Given the description of an element on the screen output the (x, y) to click on. 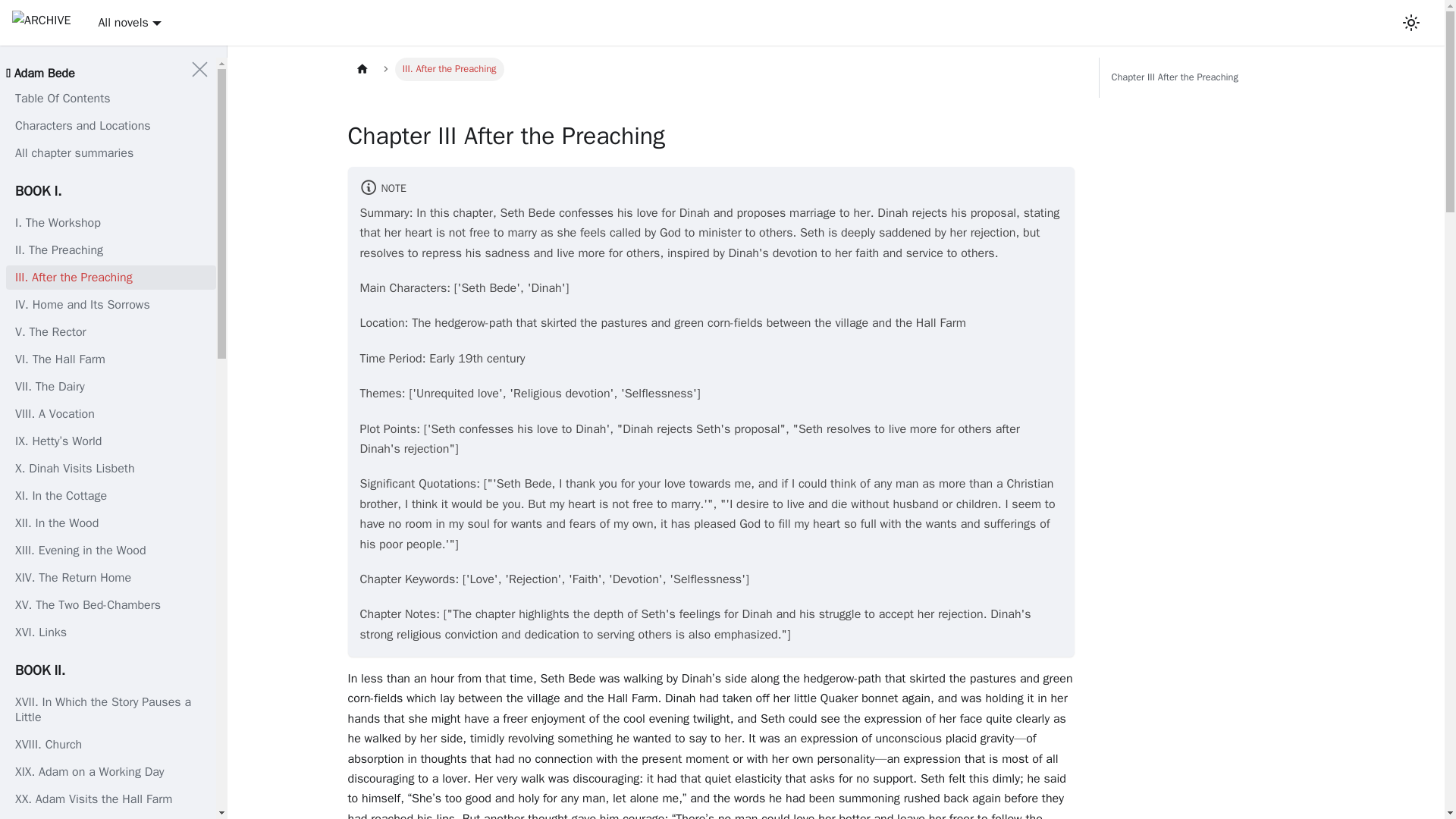
All chapter summaries (110, 152)
XV. The Two Bed-Chambers (110, 604)
Table Of Contents (110, 98)
XVIII. Church (110, 744)
XVII. In Which the Story Pauses a Little (110, 709)
VIII. A Vocation (110, 413)
X. Dinah Visits Lisbeth (110, 468)
VI. The Hall Farm (110, 359)
V. The Rector (110, 331)
XIV. The Return Home (110, 577)
